Given the description of an element on the screen output the (x, y) to click on. 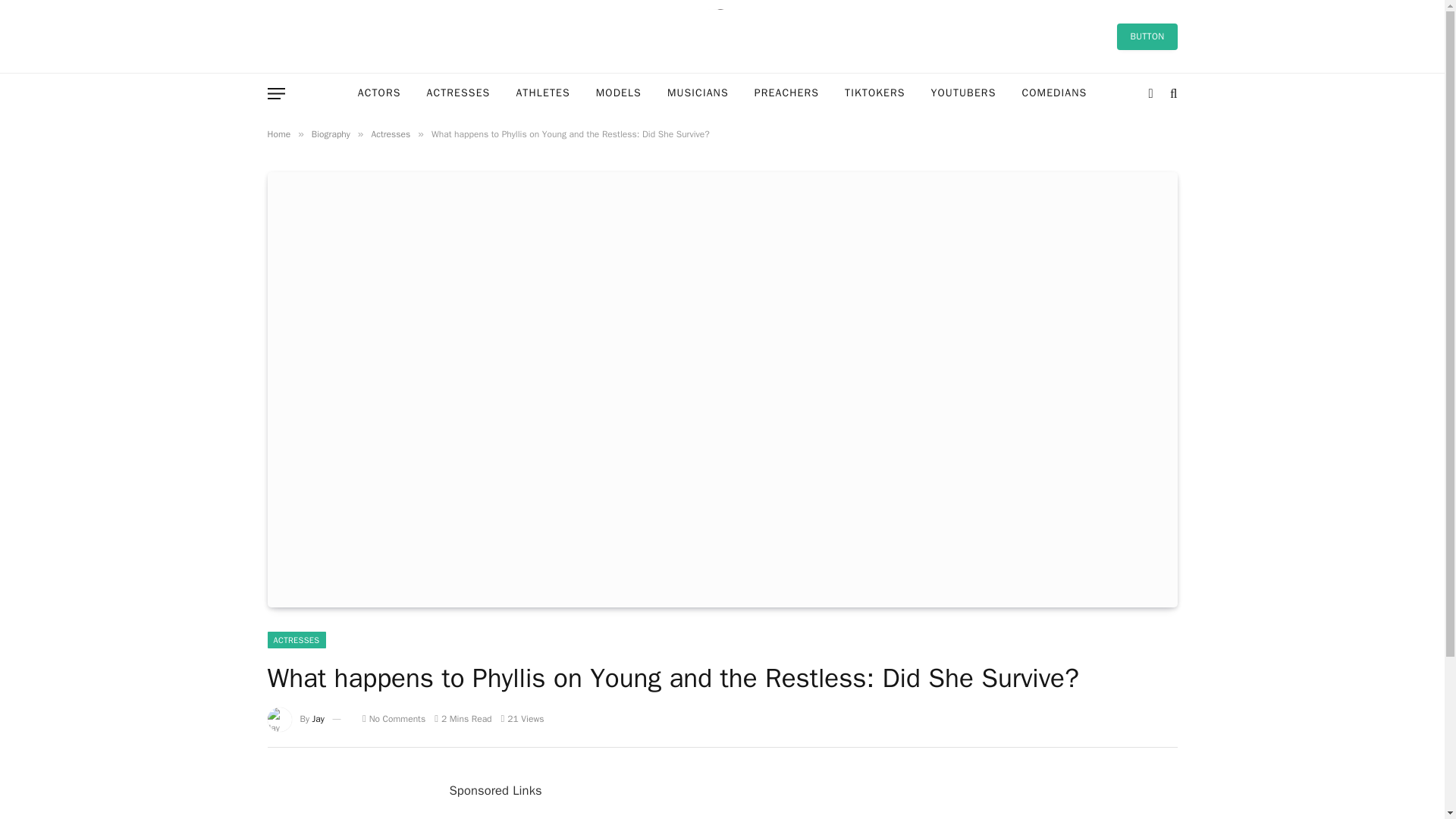
Jay (318, 718)
COMEDIANS (1054, 93)
No Comments (393, 718)
Home (277, 133)
TIKTOKERS (874, 93)
Posts by Jay (318, 718)
ATHLETES (542, 93)
BUTTON (1146, 35)
Factboyz.com (722, 36)
PREACHERS (786, 93)
MODELS (618, 93)
ACTRESSES (457, 93)
Switch to Dark Design - easier on eyes. (1150, 92)
ACTRESSES (295, 639)
ACTORS (379, 93)
